Given the description of an element on the screen output the (x, y) to click on. 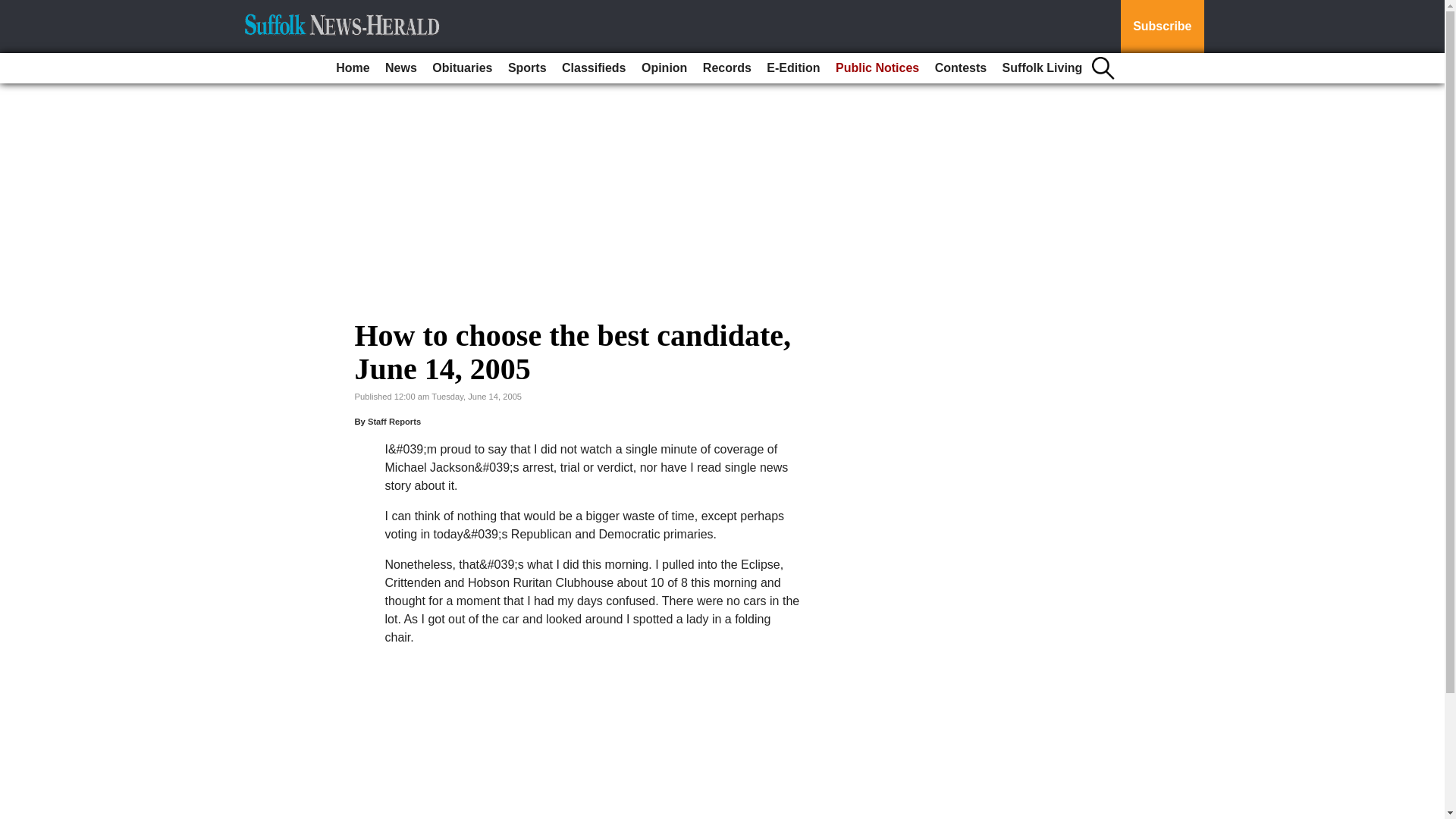
Sports (527, 68)
Subscribe (1162, 26)
Home (352, 68)
Classifieds (593, 68)
News (400, 68)
Staff Reports (394, 420)
Public Notices (876, 68)
Obituaries (461, 68)
Contests (960, 68)
E-Edition (792, 68)
